Given the description of an element on the screen output the (x, y) to click on. 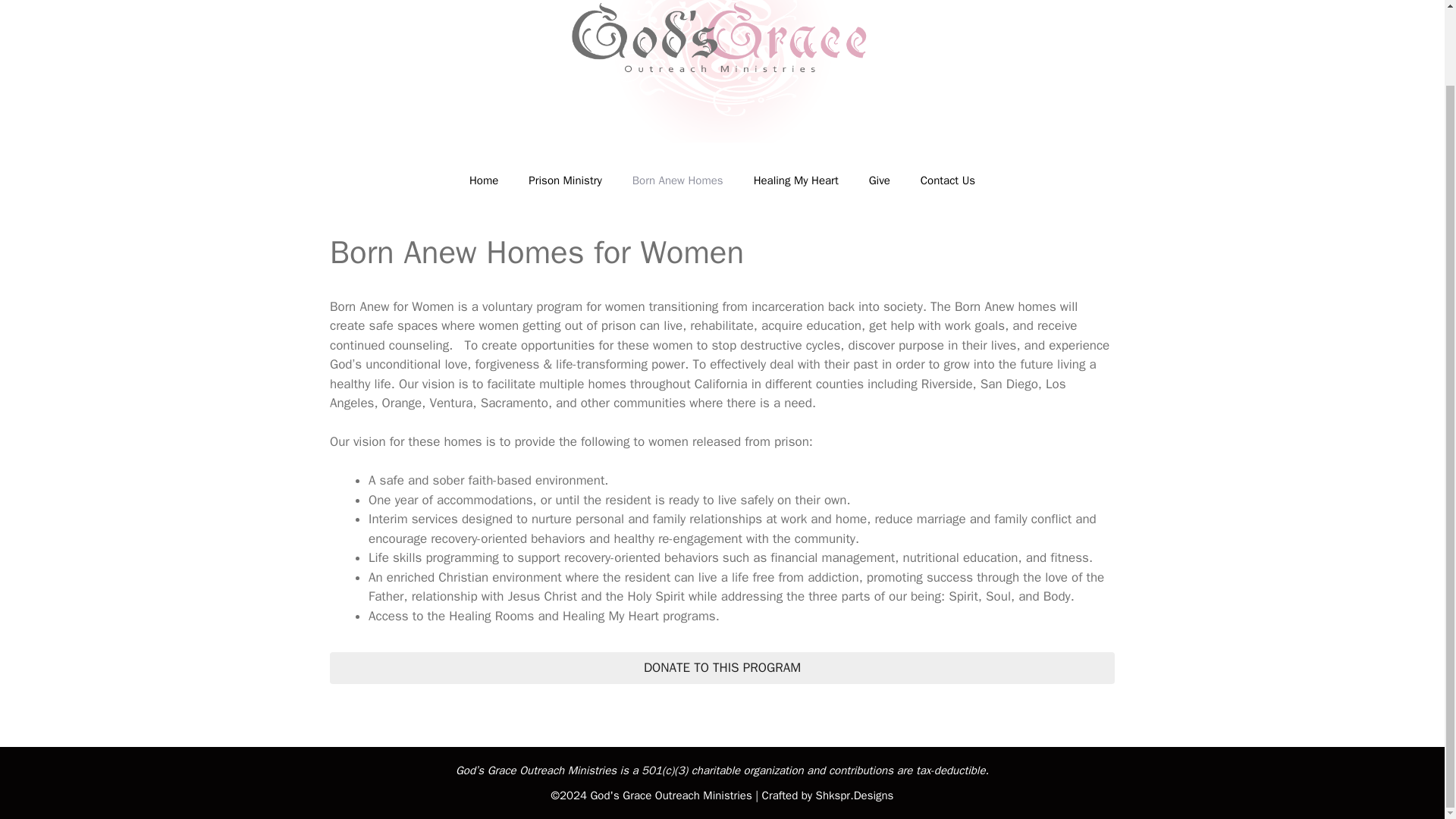
Born Anew Homes (677, 180)
Prison Ministry (564, 180)
Healing My Heart (795, 180)
Home (483, 180)
Give (879, 180)
DONATE TO THIS PROGRAM (722, 667)
Contact Us (947, 180)
